Given the description of an element on the screen output the (x, y) to click on. 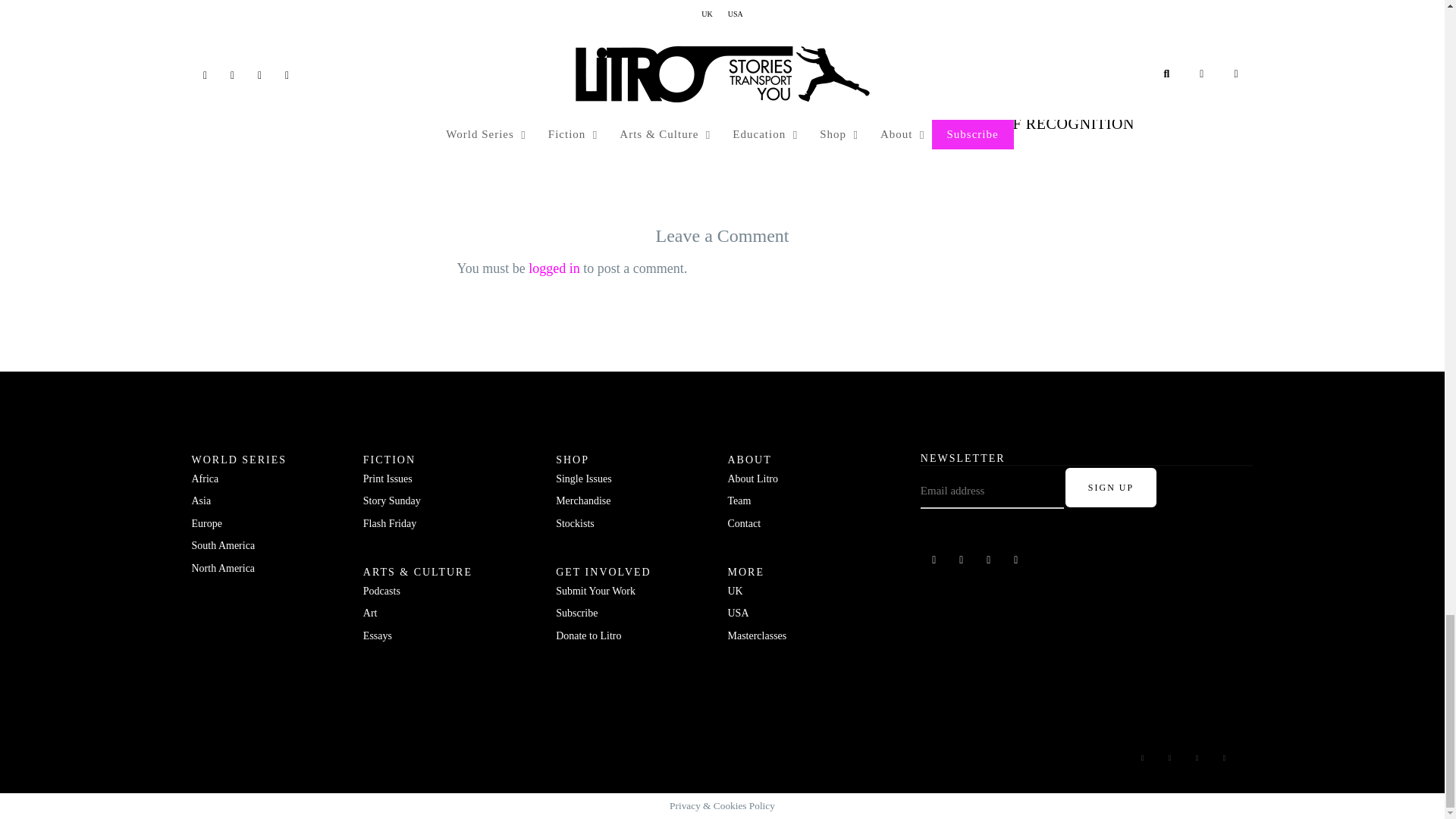
Facebook (933, 559)
Instagram (989, 559)
Flickr (961, 559)
Sign up (1110, 487)
Twitter (1016, 559)
Facebook (1142, 758)
